Given the description of an element on the screen output the (x, y) to click on. 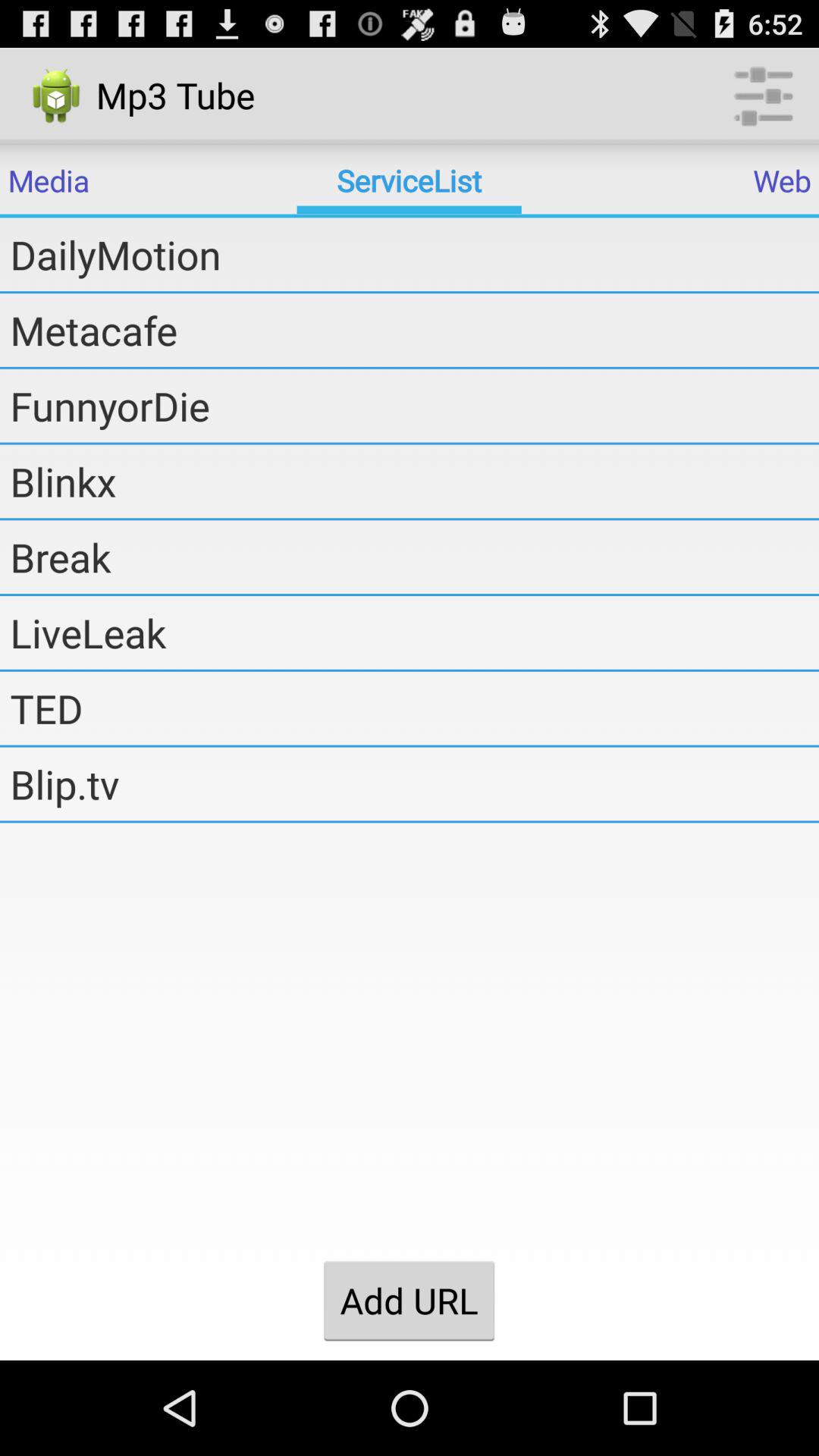
turn on the break app (414, 556)
